Given the description of an element on the screen output the (x, y) to click on. 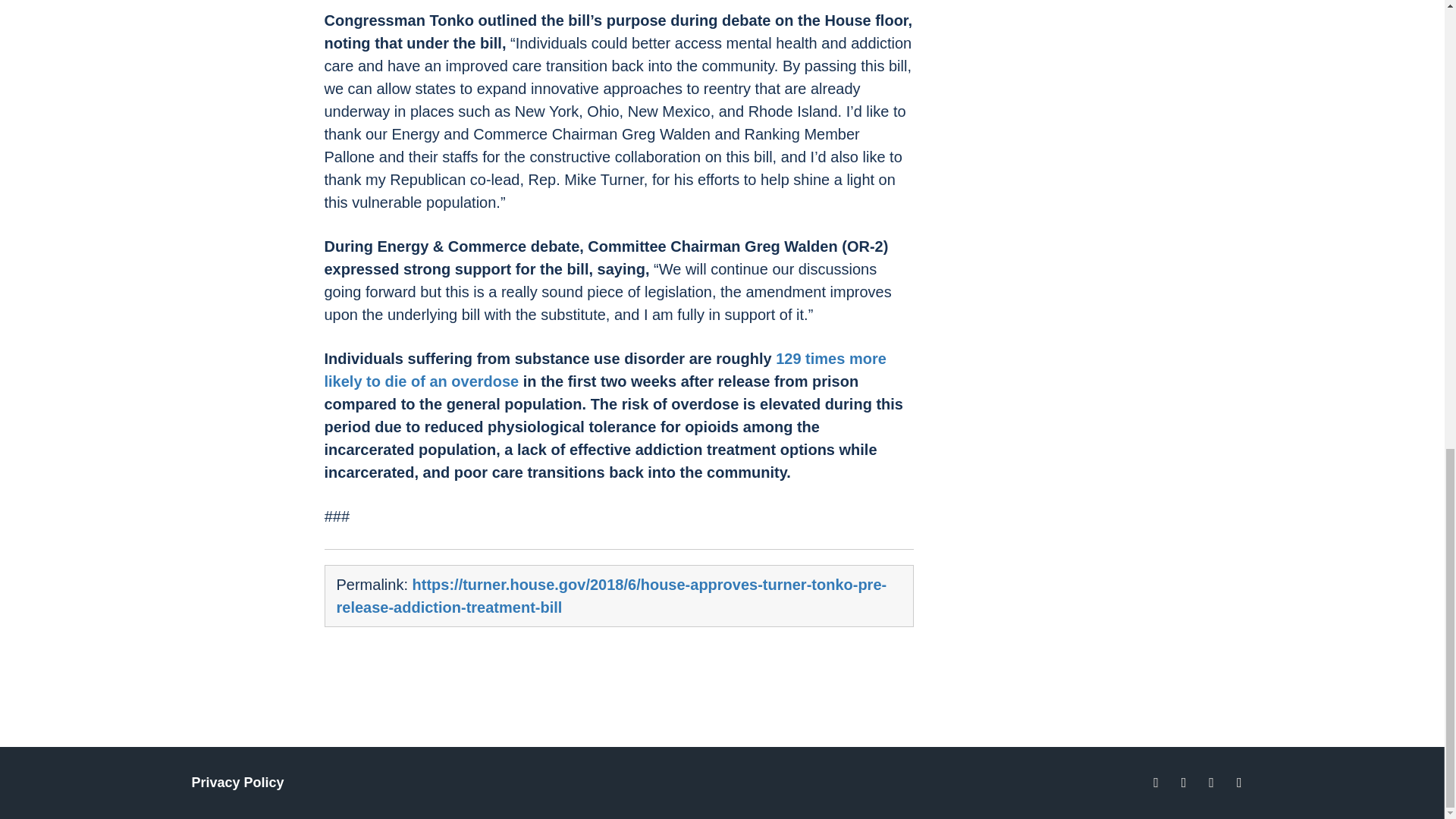
Facebook (1155, 782)
Twitter (1183, 782)
Instagram (1238, 782)
Instagram (1211, 782)
